Given the description of an element on the screen output the (x, y) to click on. 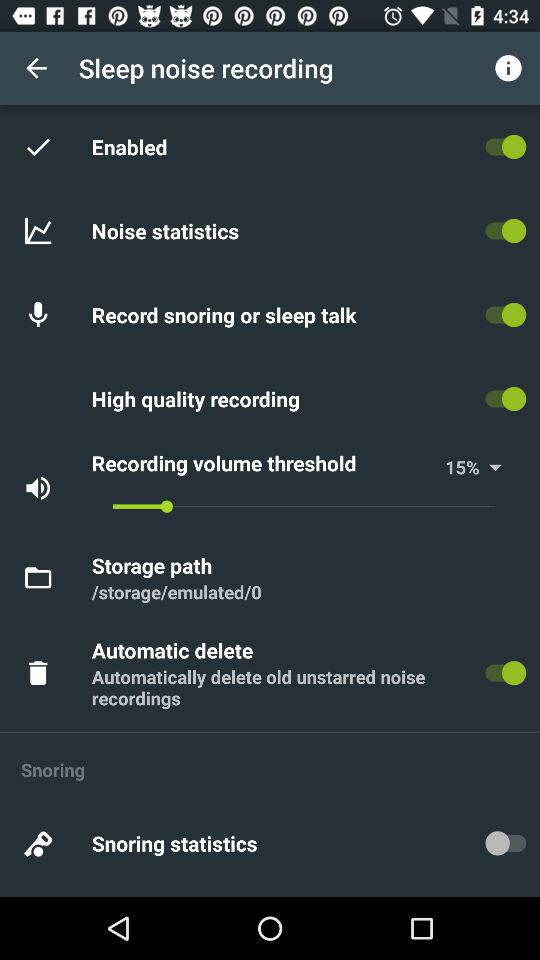
choose app to the left of the sleep noise recording icon (36, 68)
